Given the description of an element on the screen output the (x, y) to click on. 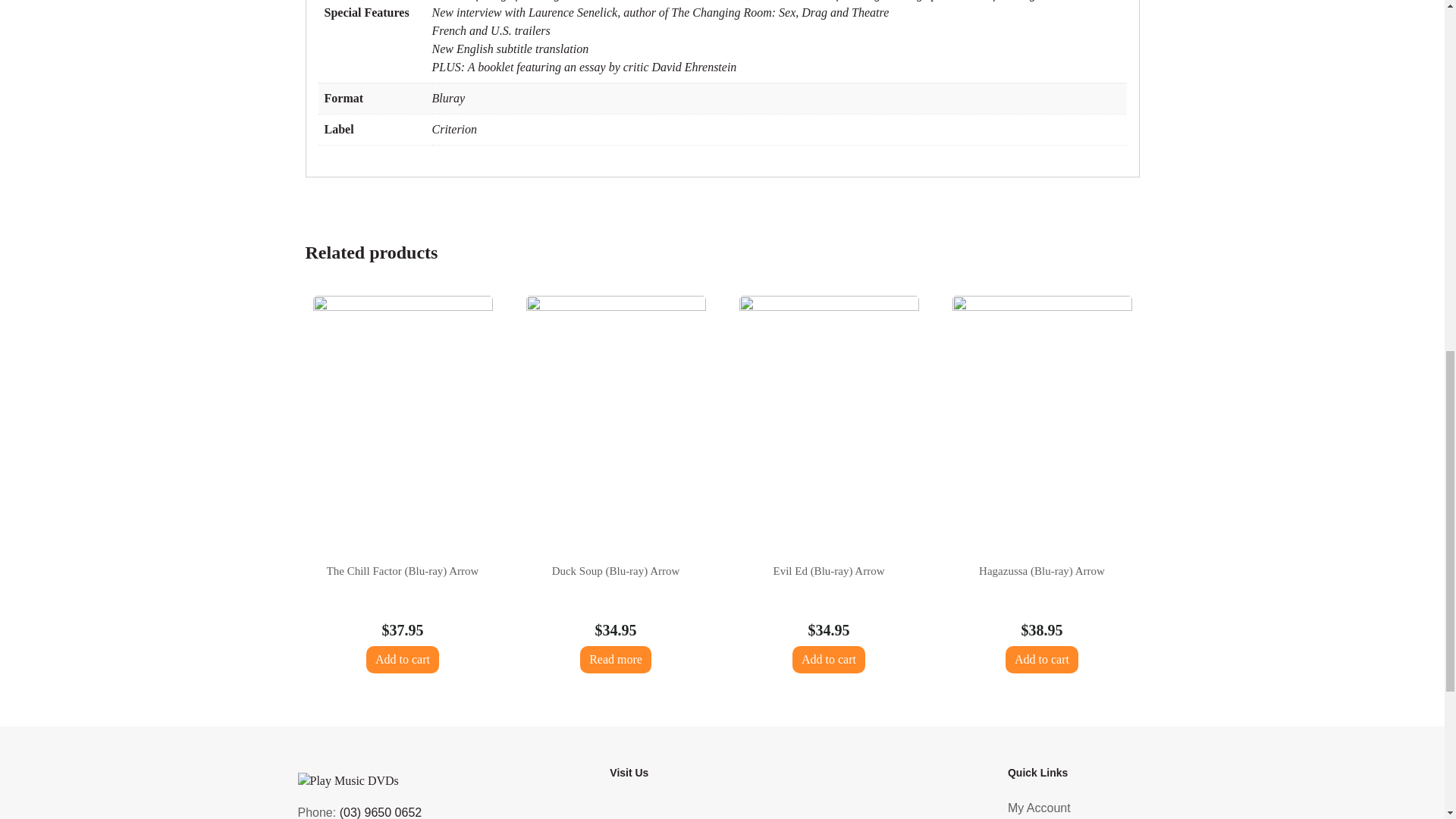
Add to cart (828, 659)
Read more (614, 659)
Play music DVDs (789, 810)
Add to cart (402, 659)
Add to cart (1042, 659)
